Given the description of an element on the screen output the (x, y) to click on. 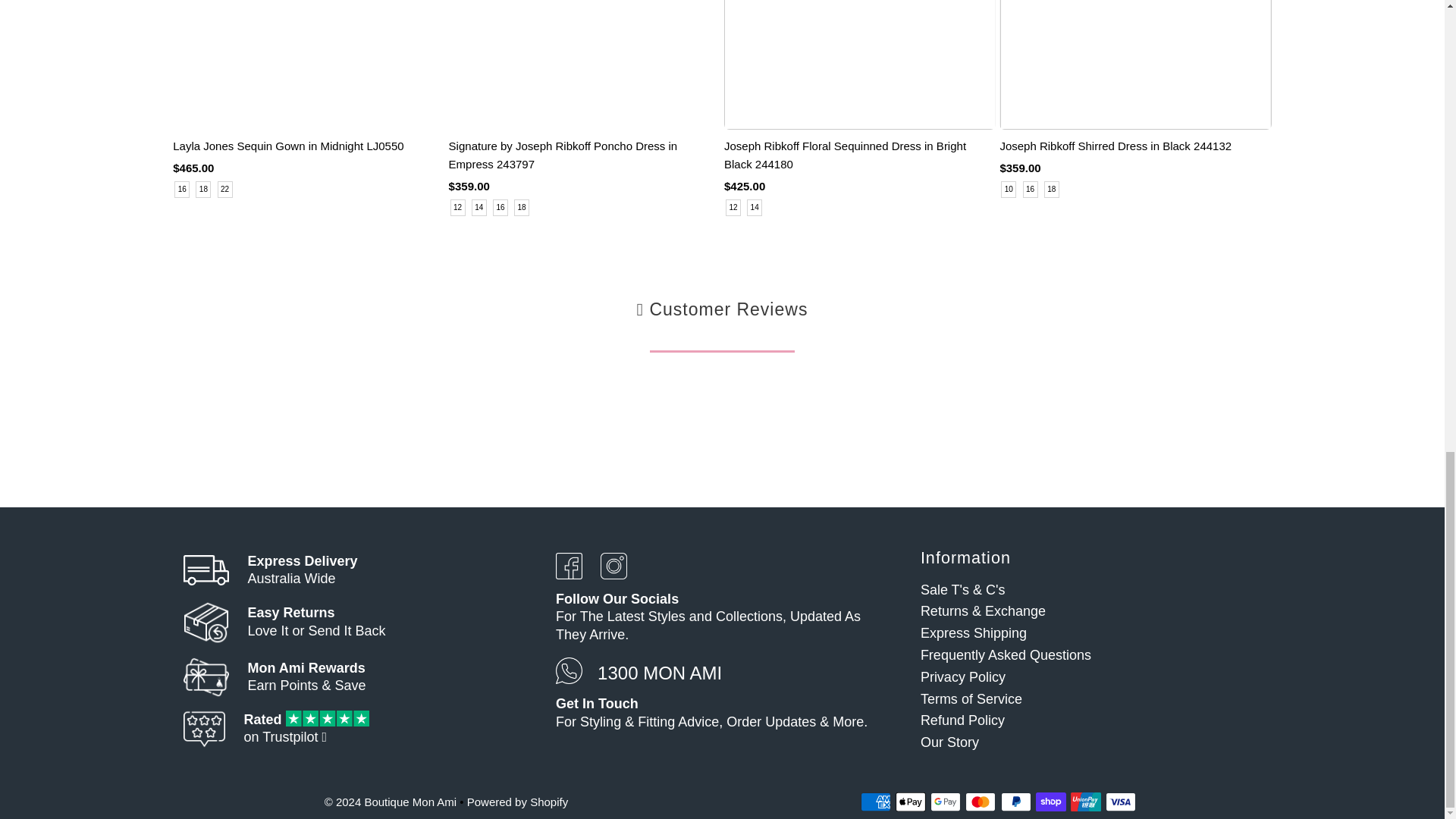
Mastercard (980, 801)
Google Pay (945, 801)
Shop Pay (1050, 801)
American Express (875, 801)
Apple Pay (910, 801)
PayPal (1015, 801)
